Given the description of an element on the screen output the (x, y) to click on. 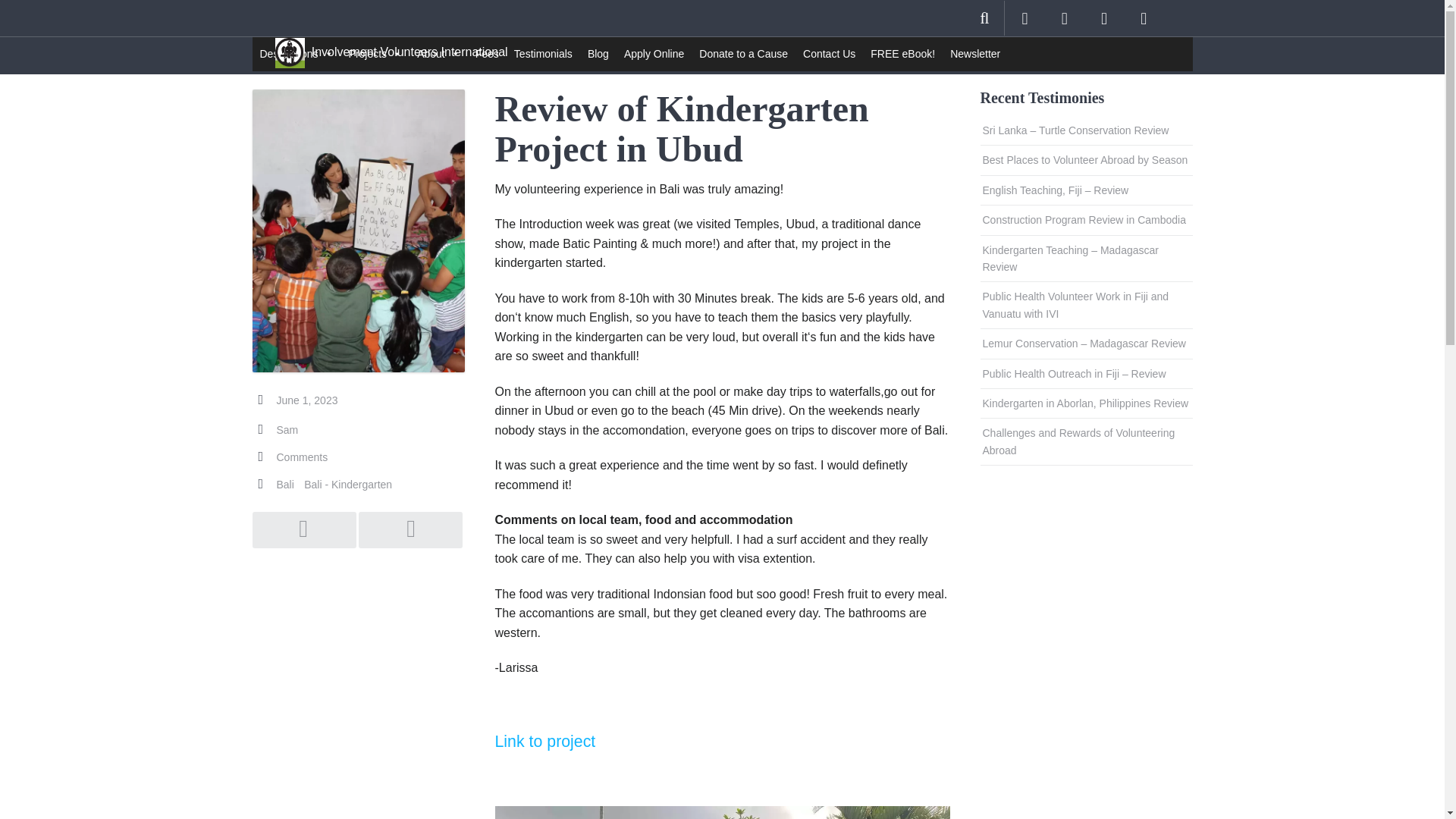
Posts by Sam (287, 429)
 Involvement Volunteers International (390, 46)
Destinations (295, 53)
Volunteer Overseas with IVI (390, 46)
